Given the description of an element on the screen output the (x, y) to click on. 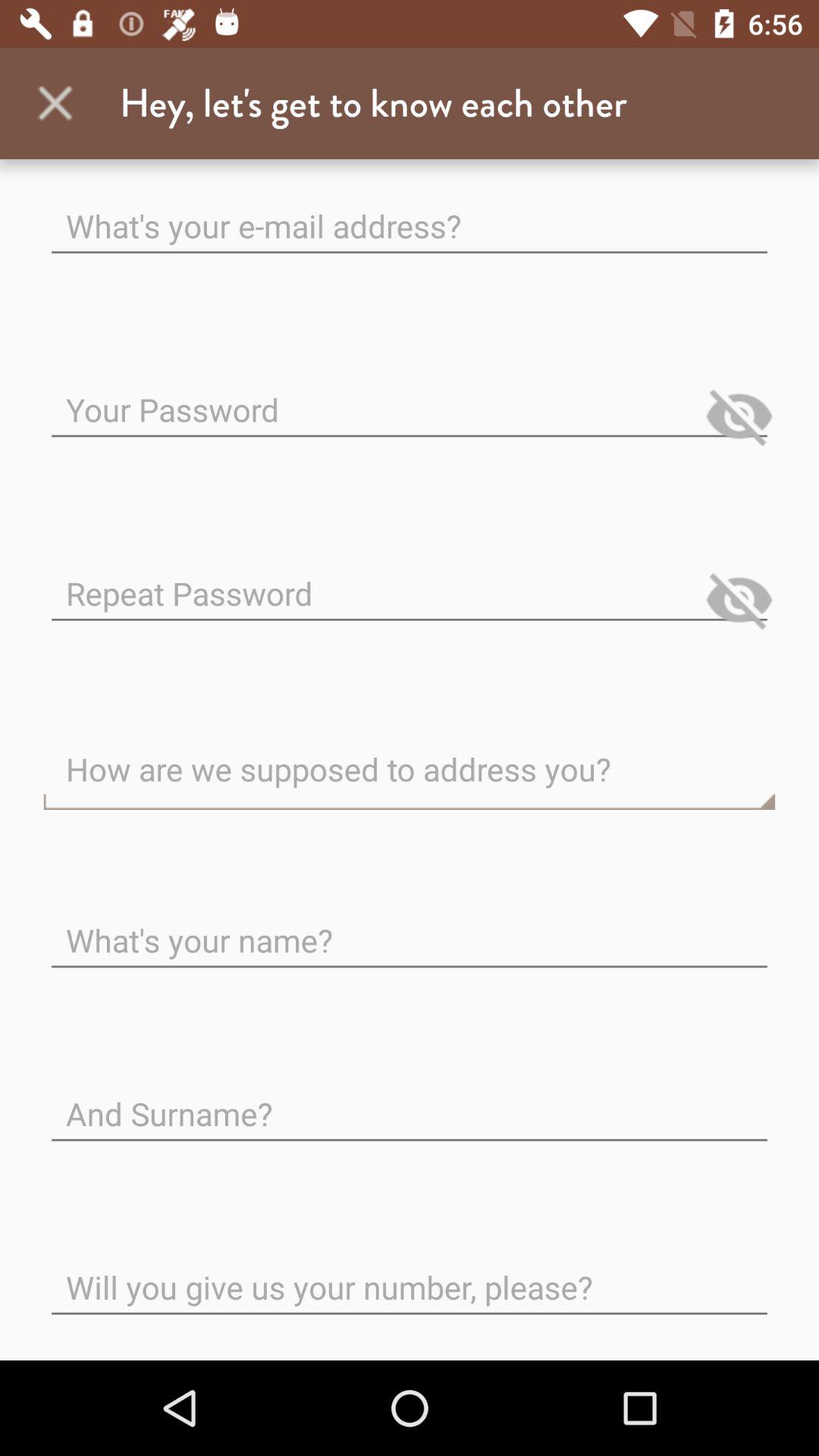
click on eye icon next to your password (739, 416)
